Given the description of an element on the screen output the (x, y) to click on. 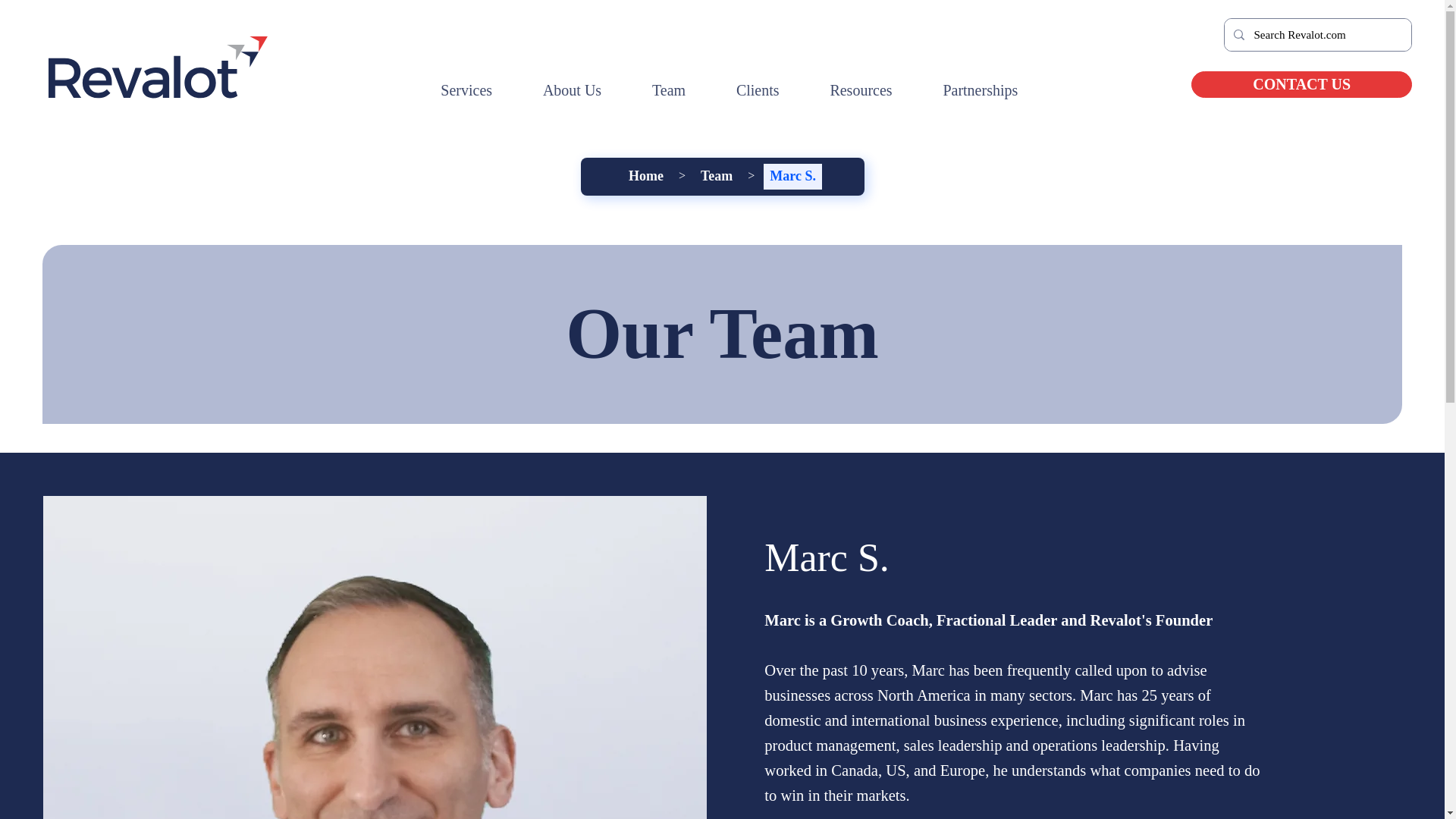
Partnerships (980, 90)
Team (669, 90)
Clients (758, 90)
Services (466, 90)
CONTACT US (1301, 84)
About Us (571, 90)
